Given the description of an element on the screen output the (x, y) to click on. 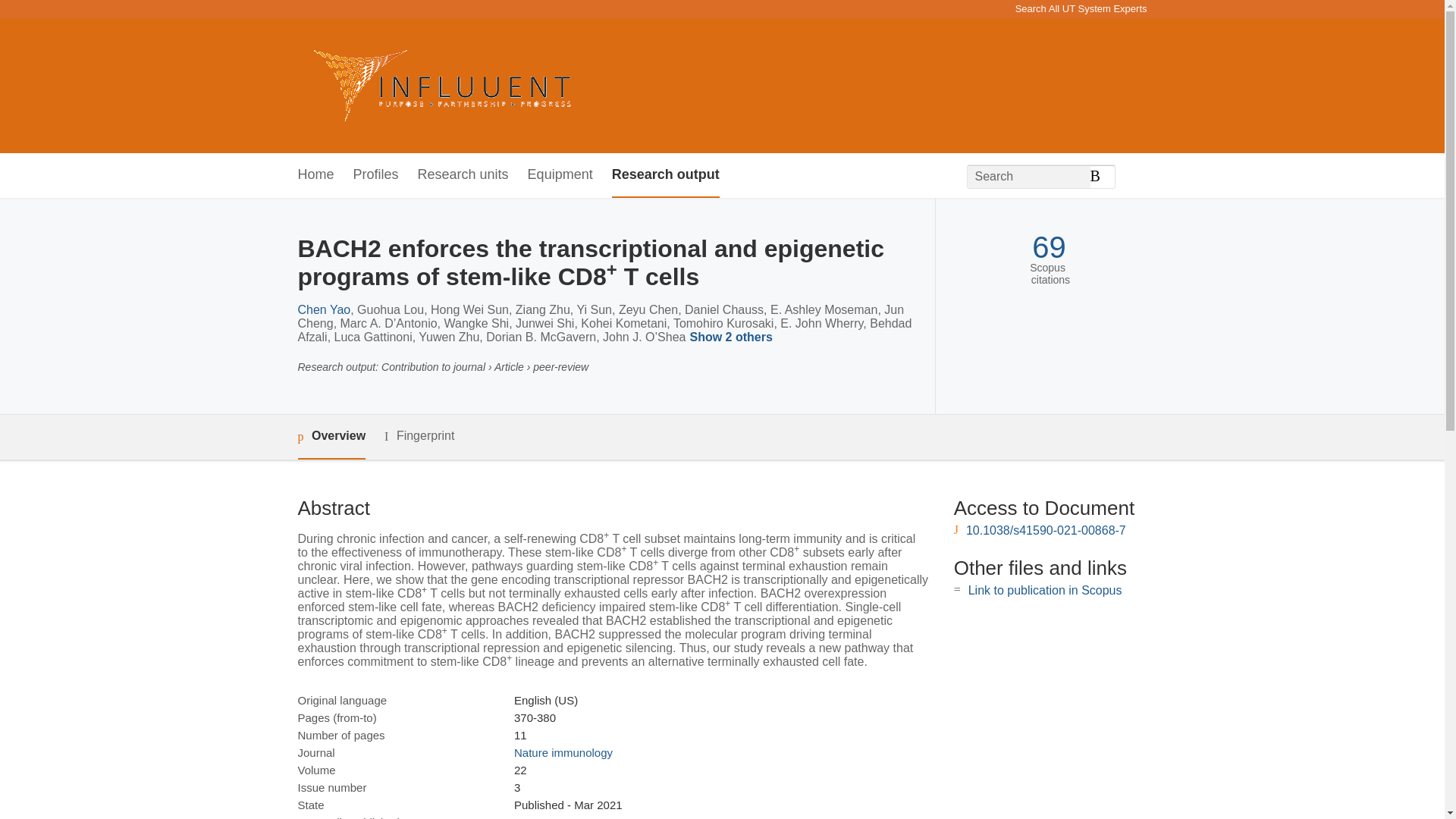
Equipment (559, 175)
Nature immunology (562, 752)
Profiles (375, 175)
Show 2 others (732, 337)
Overview (331, 436)
Research output (665, 175)
Fingerprint (419, 435)
Research units (462, 175)
69 (1048, 247)
Link to publication in Scopus (1045, 590)
